Given the description of an element on the screen output the (x, y) to click on. 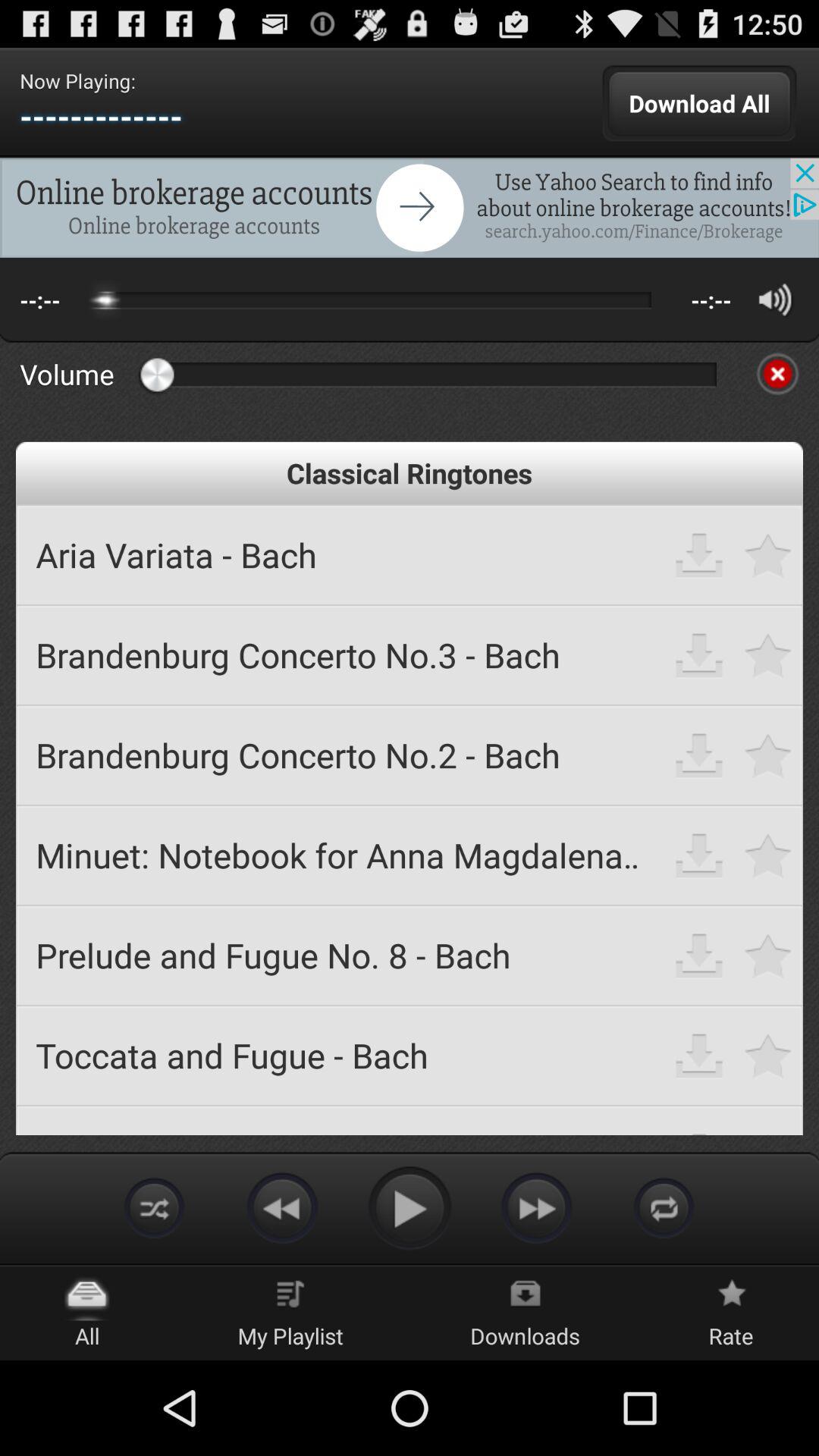
favorite song (768, 654)
